Given the description of an element on the screen output the (x, y) to click on. 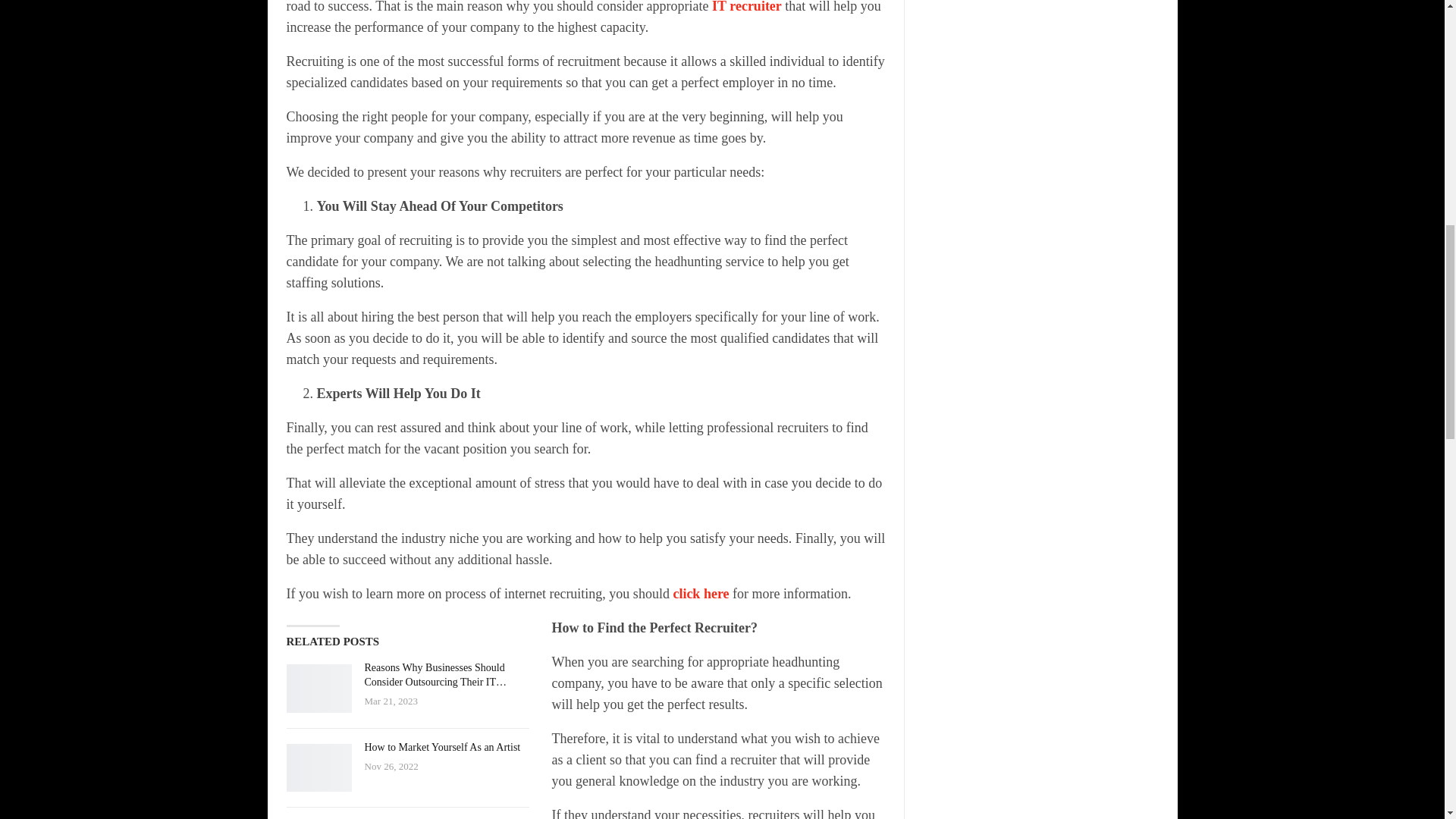
How to Market Yourself As an Artist (319, 767)
IT recruiter (746, 6)
How to Market Yourself As an Artist (441, 747)
click here (700, 593)
